Given the description of an element on the screen output the (x, y) to click on. 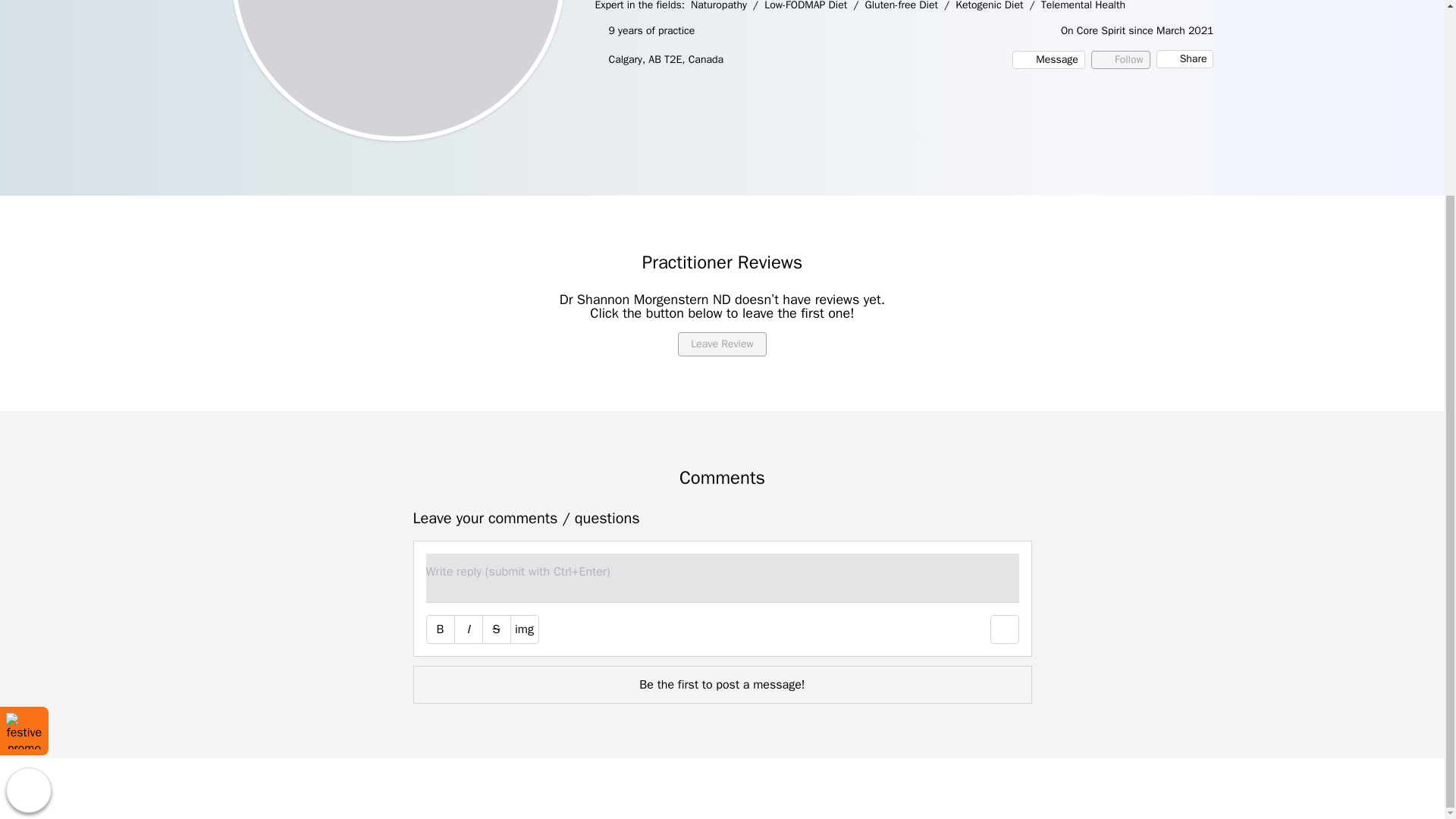
Back to top (27, 542)
img (524, 628)
S (495, 628)
B (439, 628)
Follow (1120, 59)
Leave Review (721, 344)
I (467, 628)
Message (1047, 59)
